Given the description of an element on the screen output the (x, y) to click on. 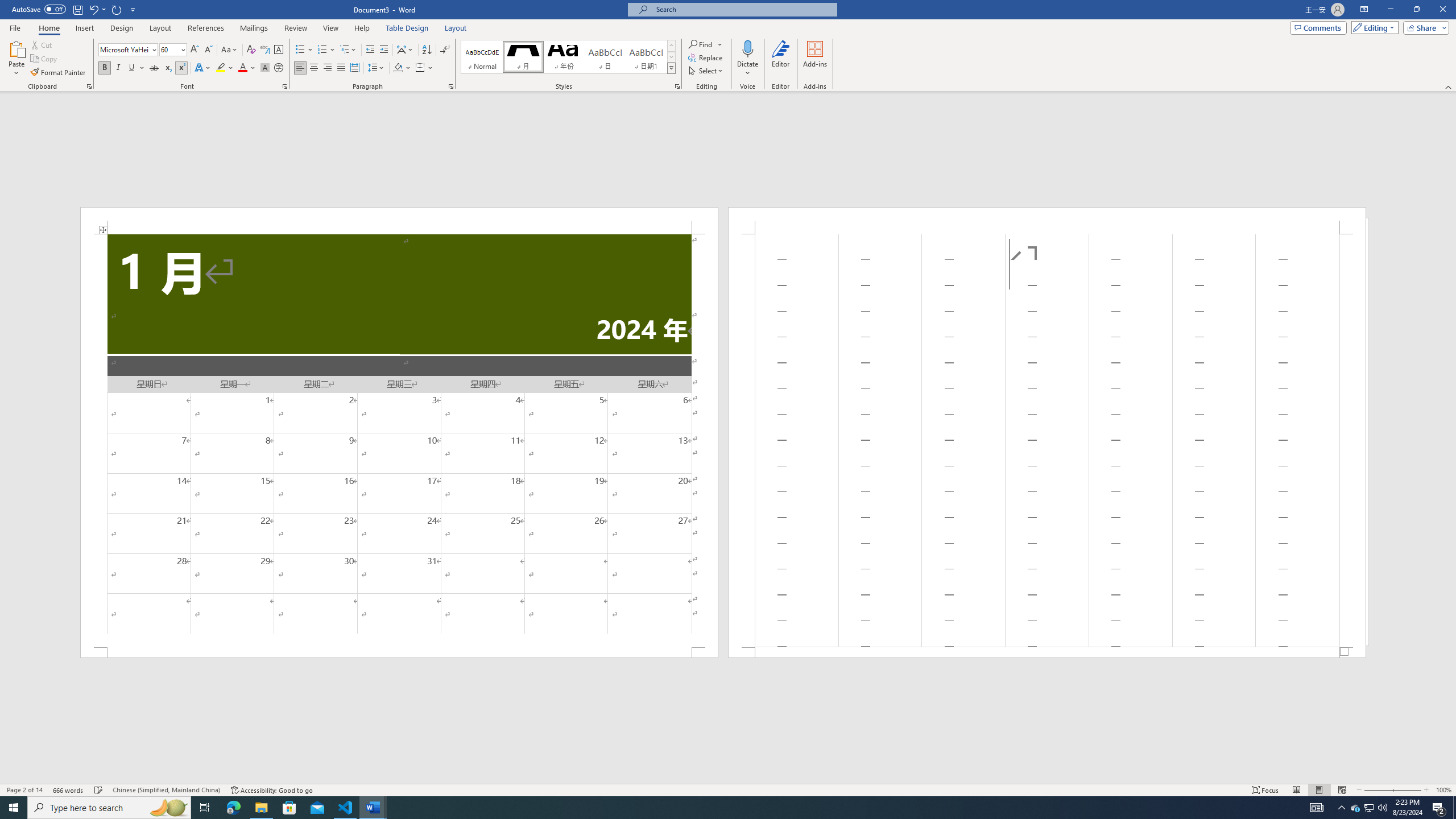
Mailings (253, 28)
Justify (340, 67)
Spelling and Grammar Check Checking (98, 790)
Paragraph... (450, 85)
Styles... (676, 85)
Text Effects and Typography (202, 67)
Web Layout (1342, 790)
Font Color RGB(255, 0, 0) (241, 67)
Borders (419, 67)
AutomationID: QuickStylesGallery (568, 56)
Grow Font (193, 49)
Paste (16, 48)
Bullets (300, 49)
